Given the description of an element on the screen output the (x, y) to click on. 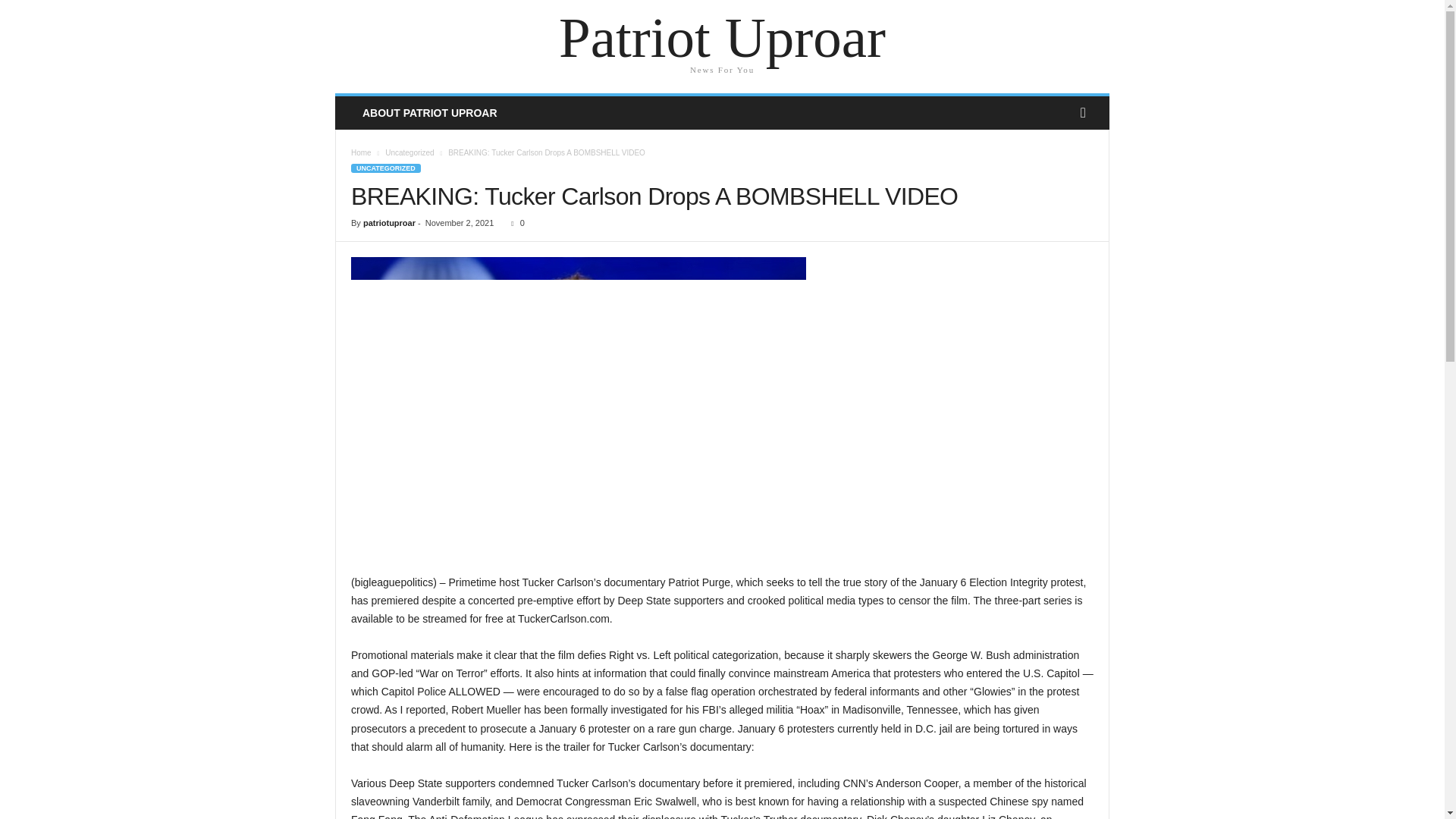
Home (360, 152)
0 (514, 222)
patriotuproar (388, 222)
UNCATEGORIZED (385, 167)
ABOUT PATRIOT UPROAR (429, 112)
Uncategorized (409, 152)
Patriot Uproar (721, 38)
View all posts in Uncategorized (409, 152)
